Given the description of an element on the screen output the (x, y) to click on. 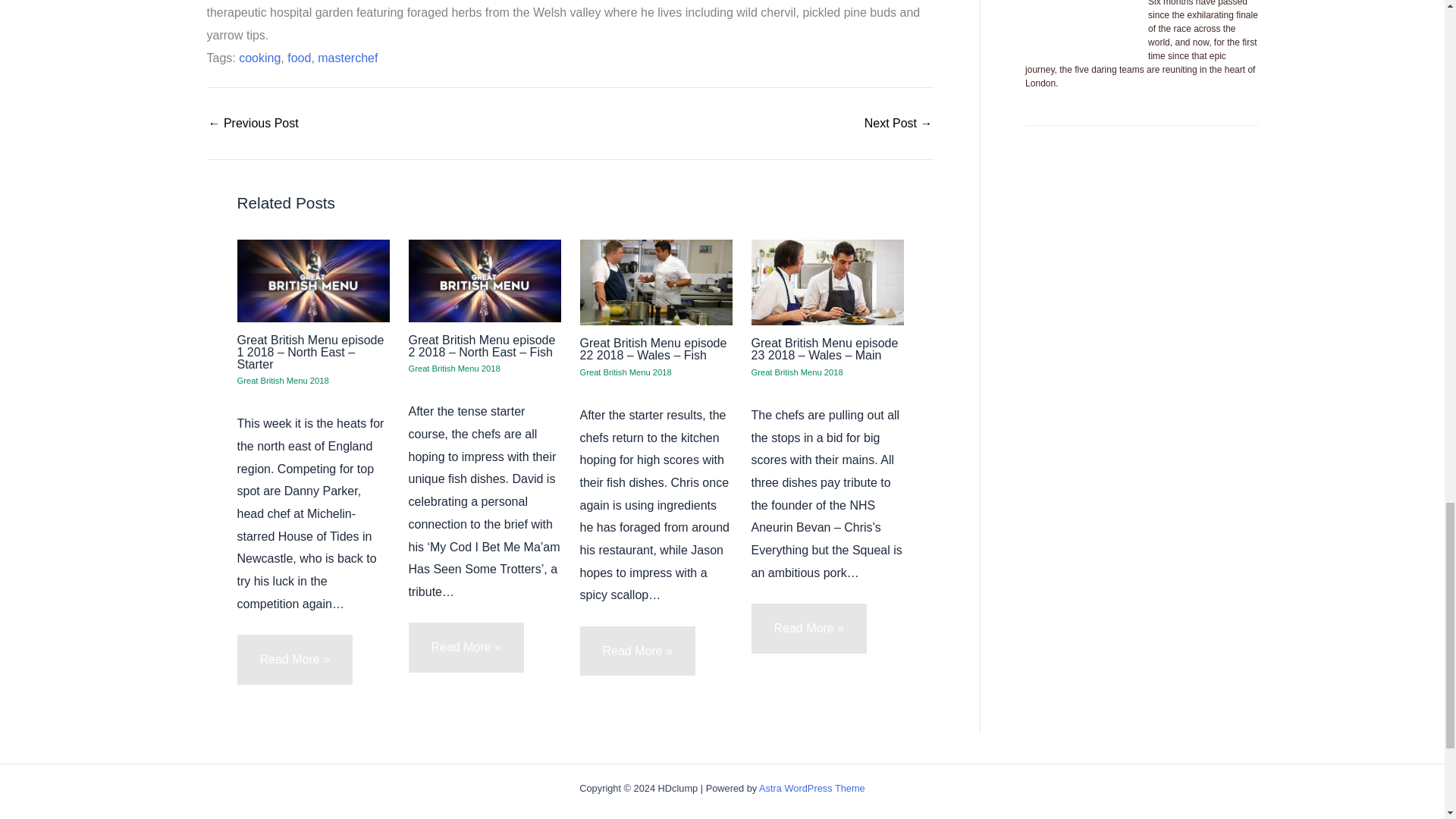
World's Weirdest Events episode 2 (253, 123)
Great British Menu episode 22 2018 - Wales - Fish (898, 123)
